Given the description of an element on the screen output the (x, y) to click on. 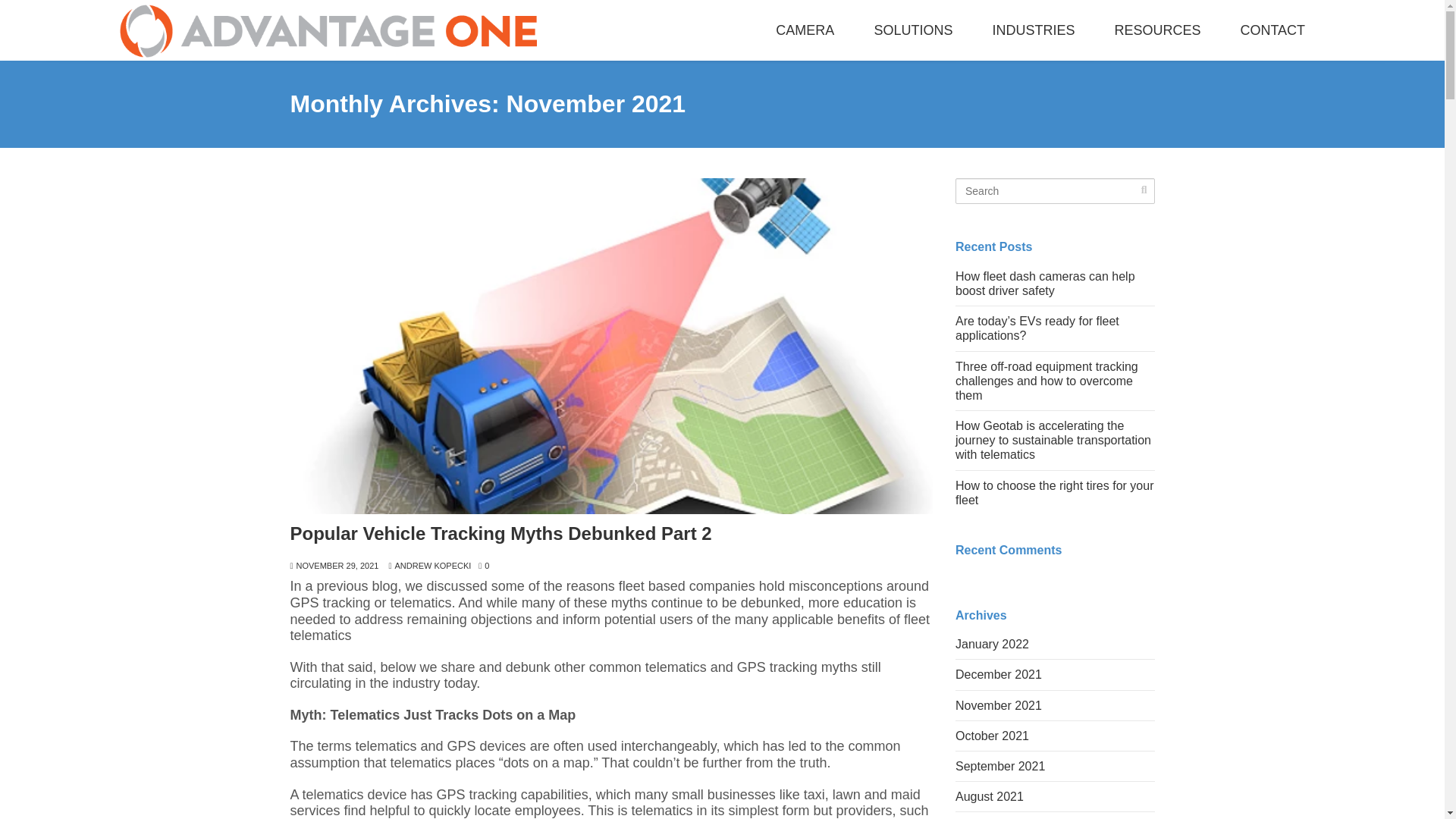
CAMERA (804, 30)
RESOURCES (1157, 30)
CONTACT (1272, 30)
SOLUTIONS (912, 30)
INDUSTRIES (1032, 30)
